Given the description of an element on the screen output the (x, y) to click on. 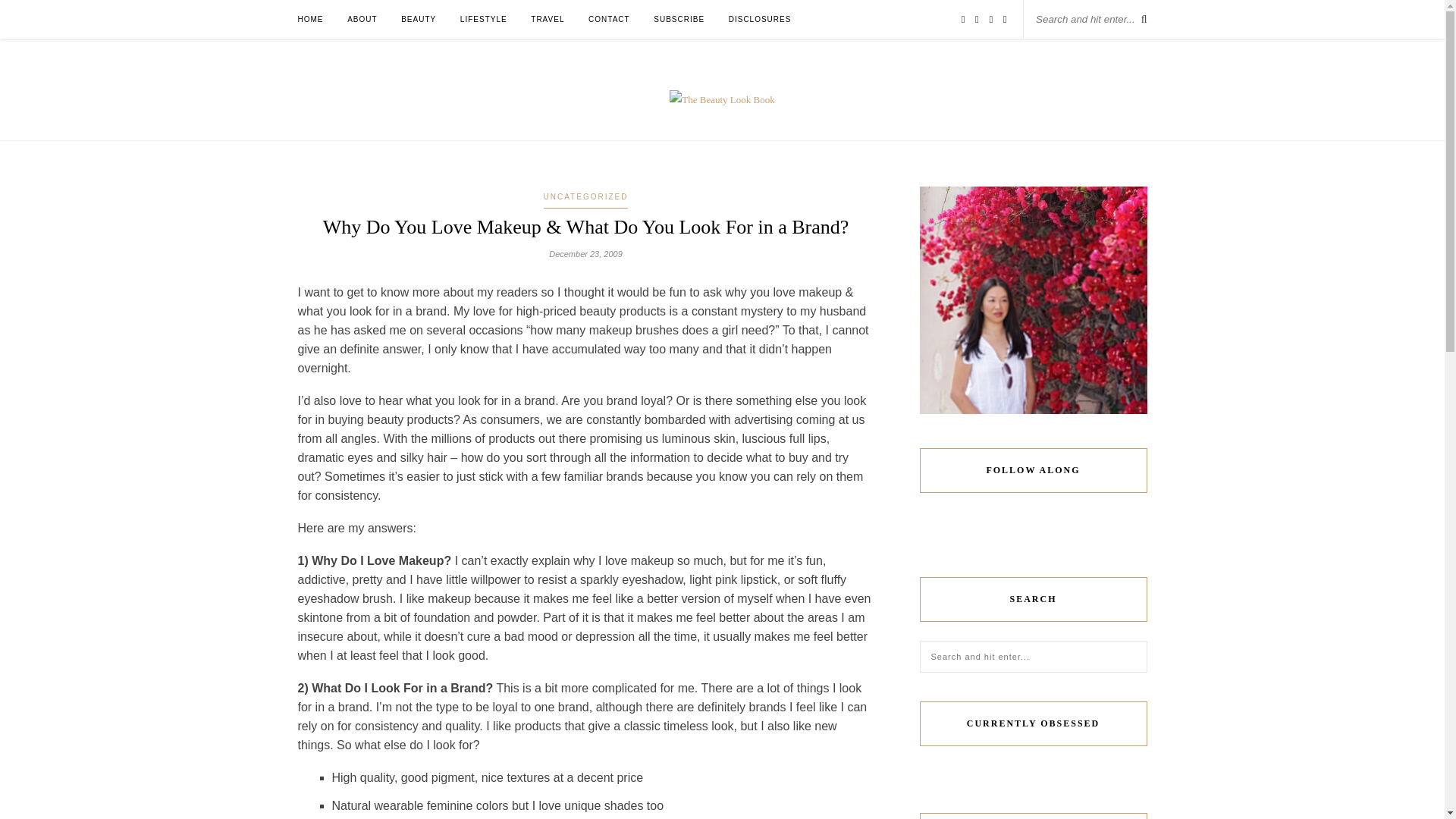
ABOUT (362, 19)
SUBSCRIBE (678, 19)
HOME (310, 19)
View all posts in Uncategorized (585, 197)
CONTACT (609, 19)
UNCATEGORIZED (585, 197)
LIFESTYLE (483, 19)
BEAUTY (418, 19)
DISCLOSURES (760, 19)
TRAVEL (547, 19)
